Given the description of an element on the screen output the (x, y) to click on. 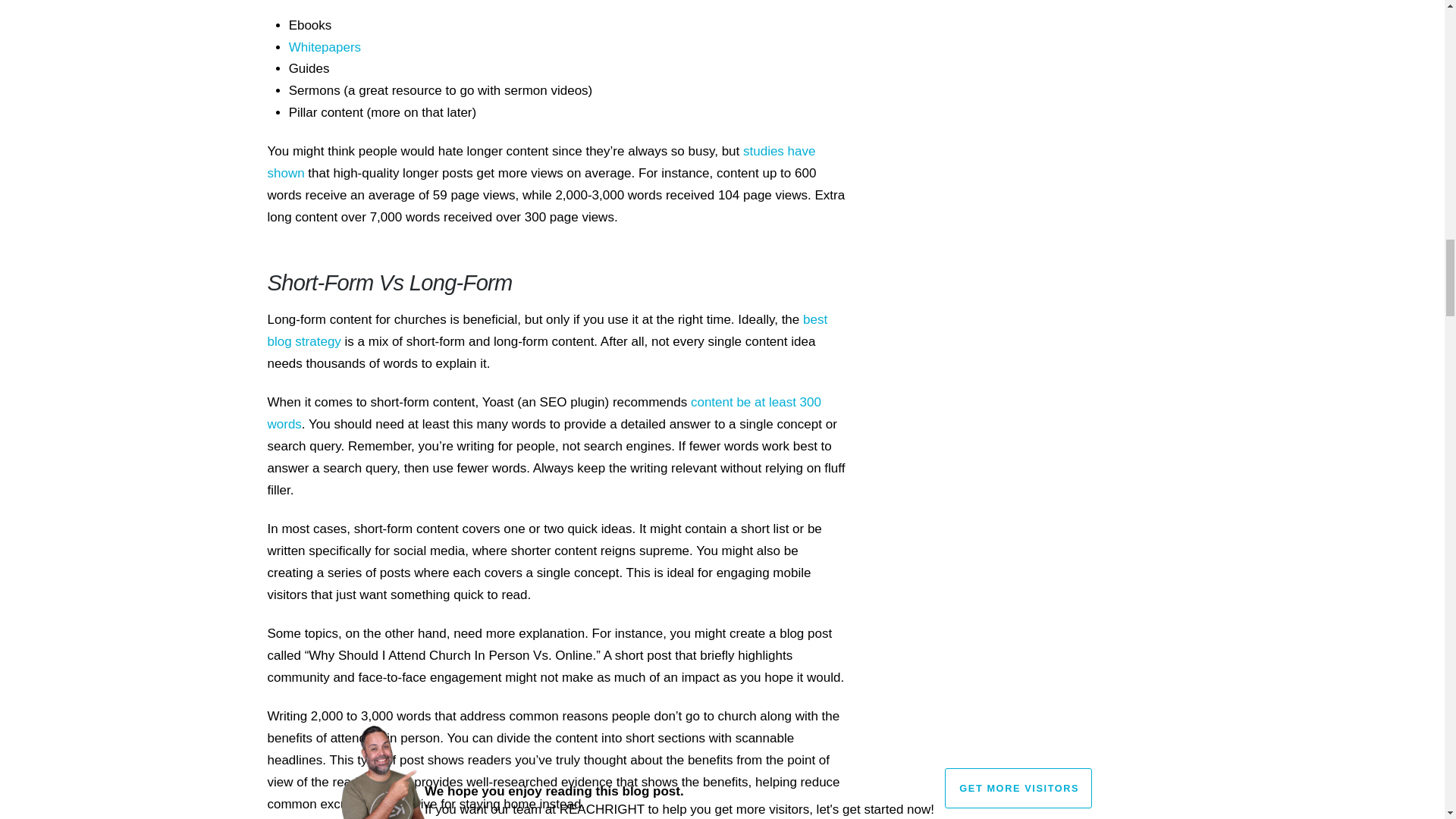
Whitepapers (324, 47)
studies have shown (540, 162)
content be at least 300 words (543, 412)
best blog strategy (546, 330)
